Given the description of an element on the screen output the (x, y) to click on. 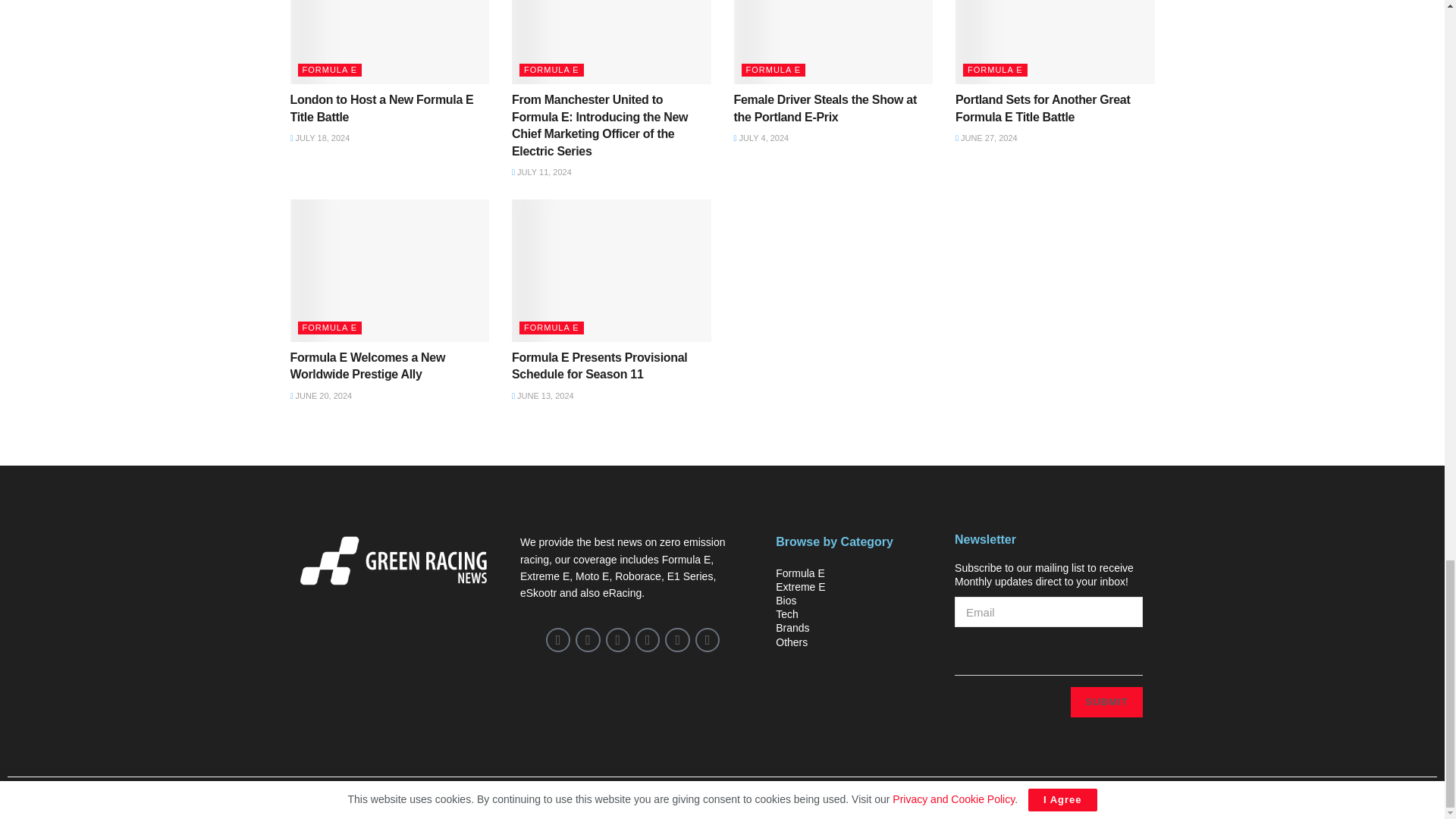
Submit (1106, 702)
